Given the description of an element on the screen output the (x, y) to click on. 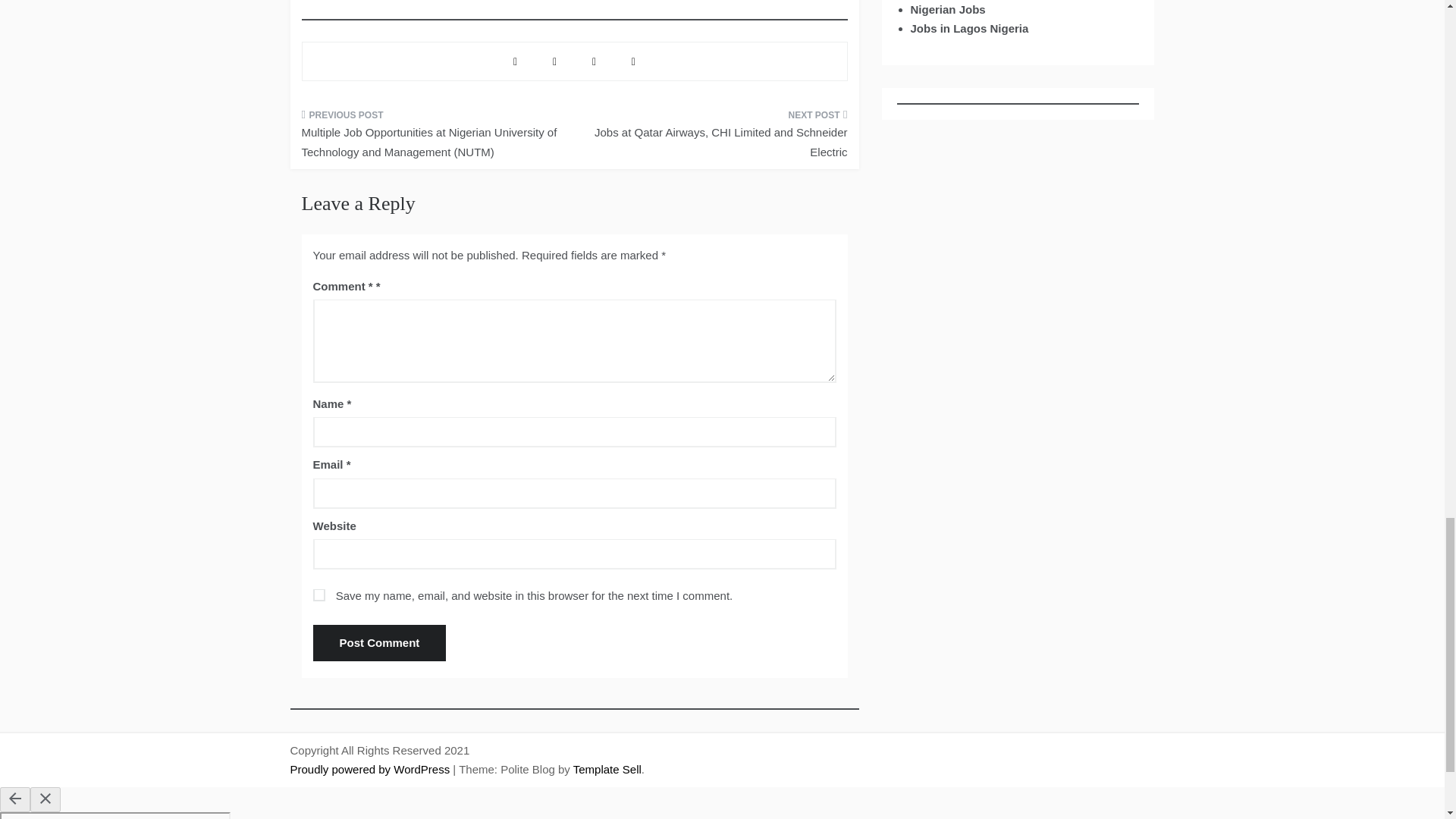
Jobs at Qatar Airways, CHI Limited and Schneider Electric (716, 137)
Post Comment (379, 642)
yes (318, 594)
Post Comment (379, 642)
